Given the description of an element on the screen output the (x, y) to click on. 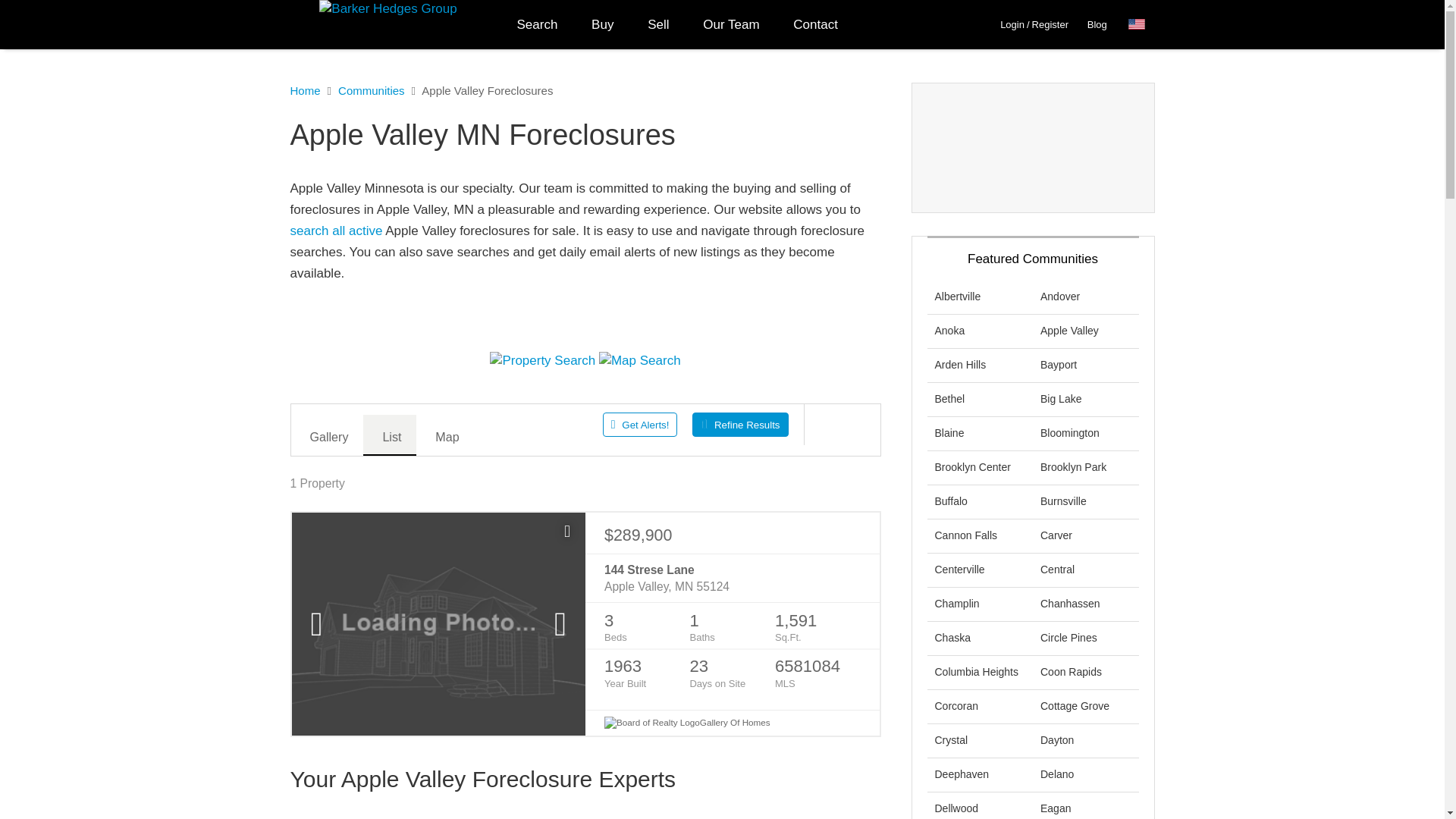
Select Language (1140, 24)
Check Out Apple Valley Foreclosure Listings Below! (584, 231)
Apple Valley Foreclosures for Sale (335, 230)
Apple Valley Map Search (639, 361)
144 Strese Lane Apple Valley,  MN 55124 (732, 578)
Foreclosures in Apple Valley, Minnesota (584, 134)
Search (537, 24)
Register (1050, 24)
Sell (657, 24)
Apple Valley Property Search (542, 361)
